Given the description of an element on the screen output the (x, y) to click on. 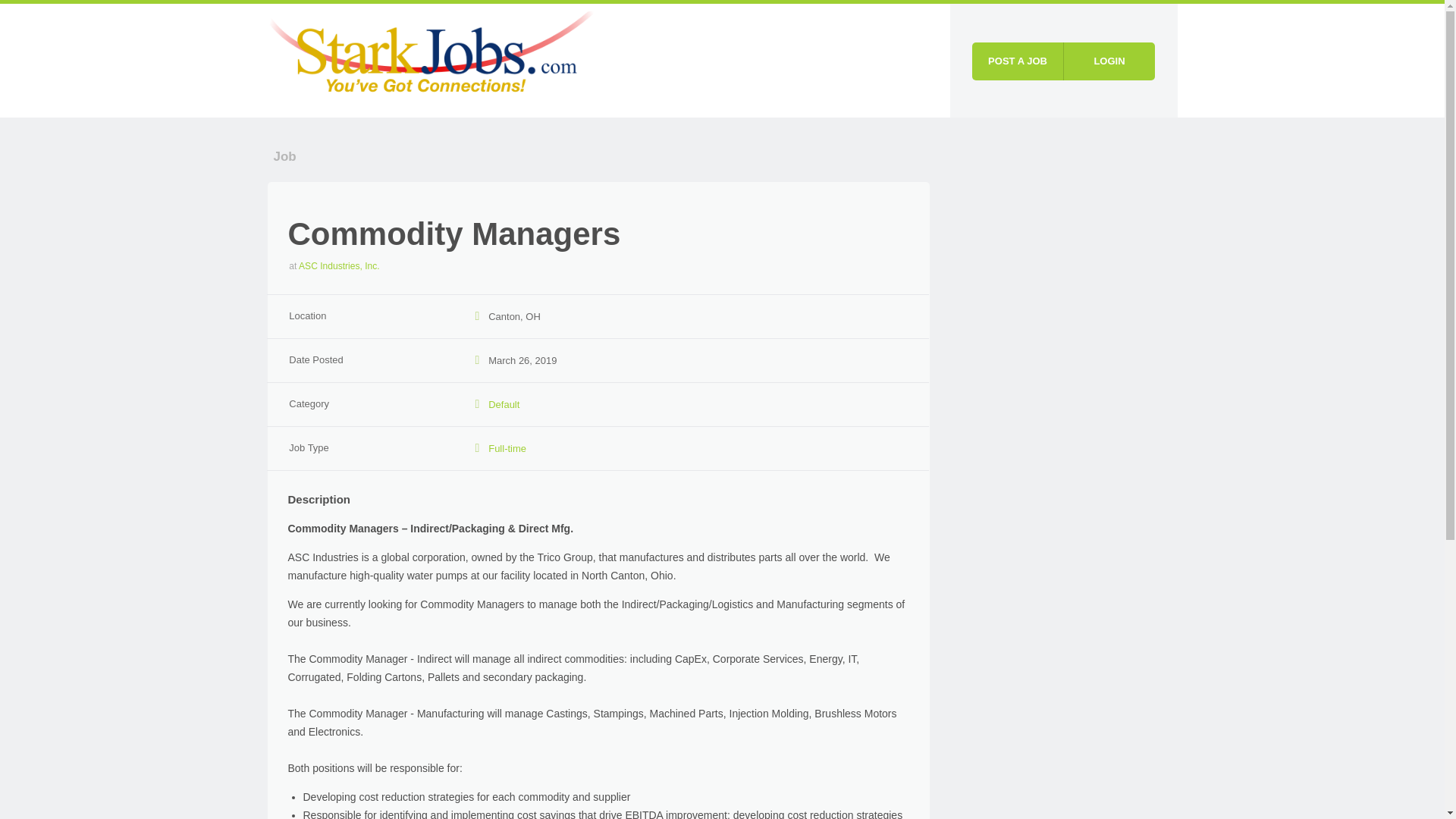
ASC Industries, Inc. (339, 266)
Default (503, 404)
LOGIN (1108, 61)
Full-time (506, 448)
StarkJobs.com (430, 58)
POST A JOB (1017, 61)
